Given the description of an element on the screen output the (x, y) to click on. 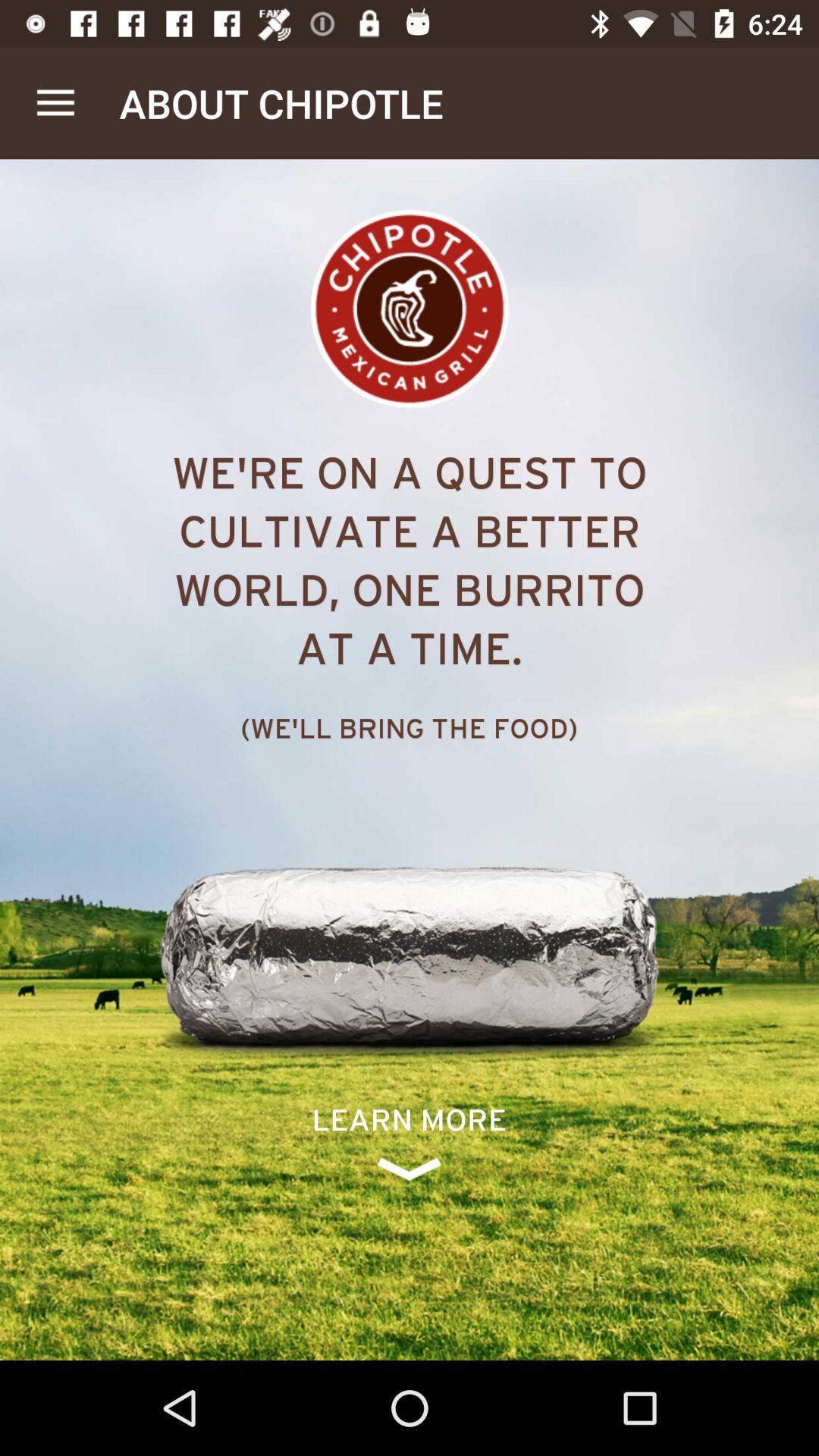
click the icon at the top left corner (55, 103)
